Given the description of an element on the screen output the (x, y) to click on. 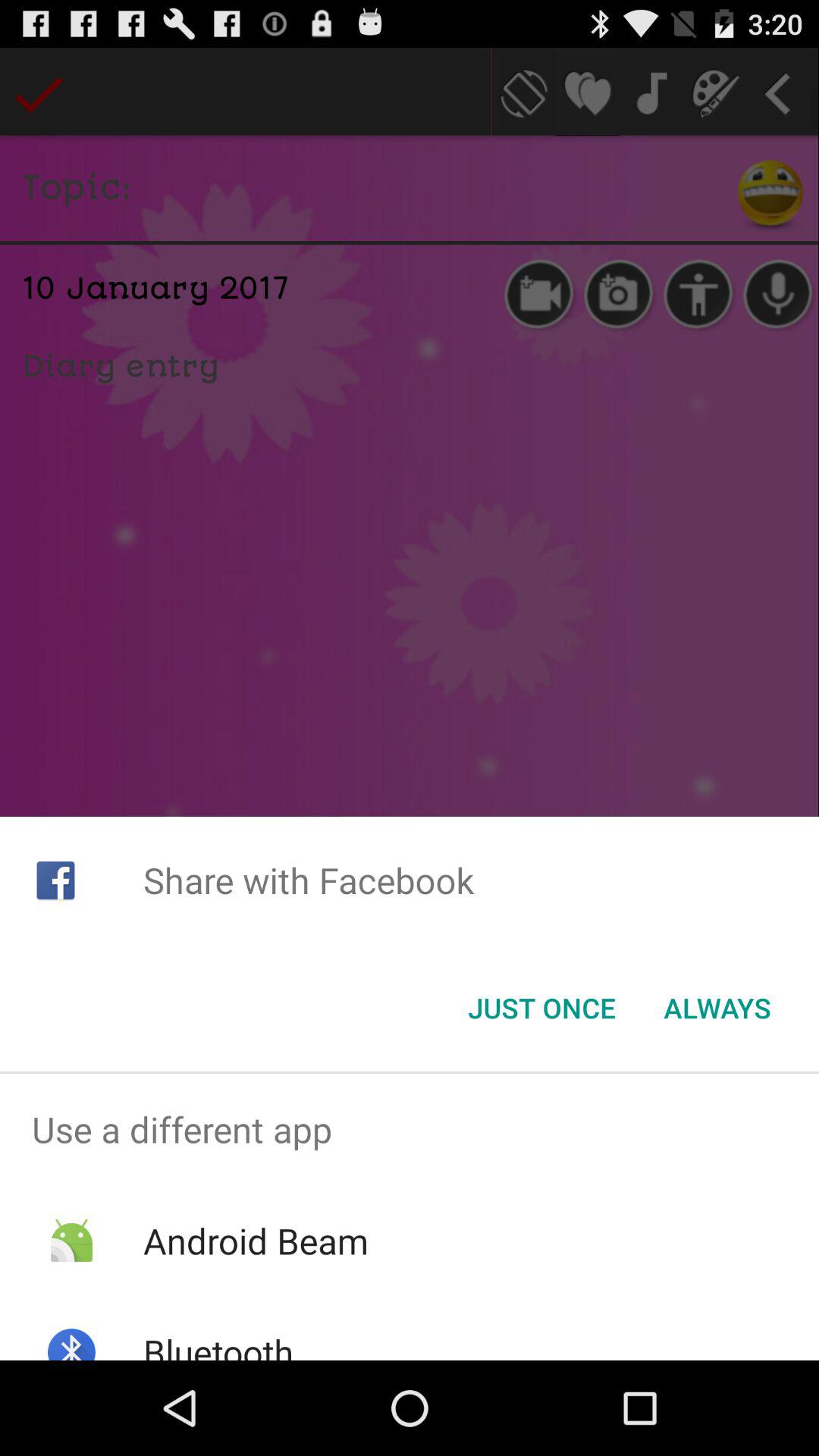
open the button to the right of just once button (717, 1007)
